Given the description of an element on the screen output the (x, y) to click on. 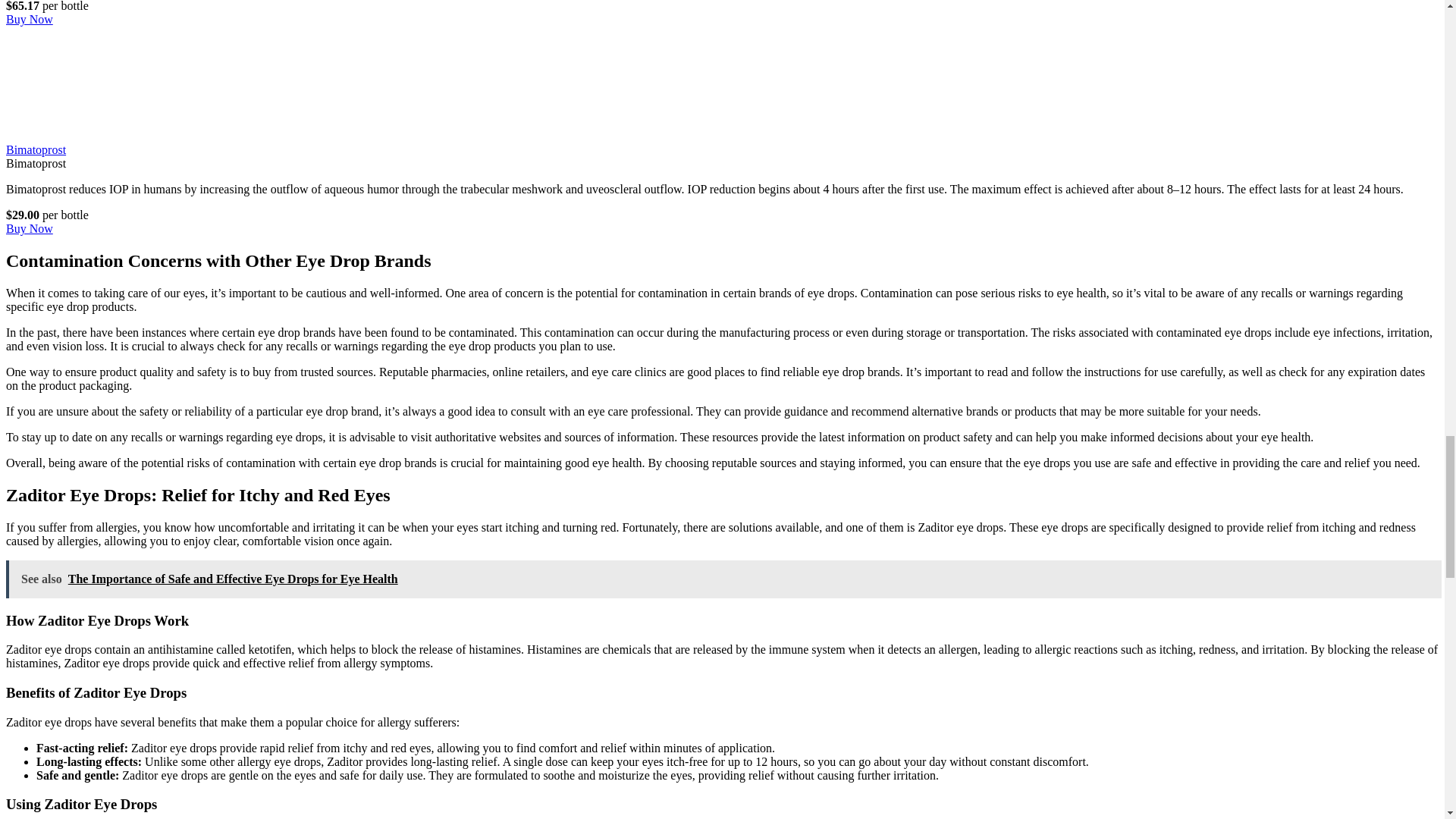
Bimatoprost (35, 149)
Buy Now (28, 19)
Buy Now (28, 228)
